Given the description of an element on the screen output the (x, y) to click on. 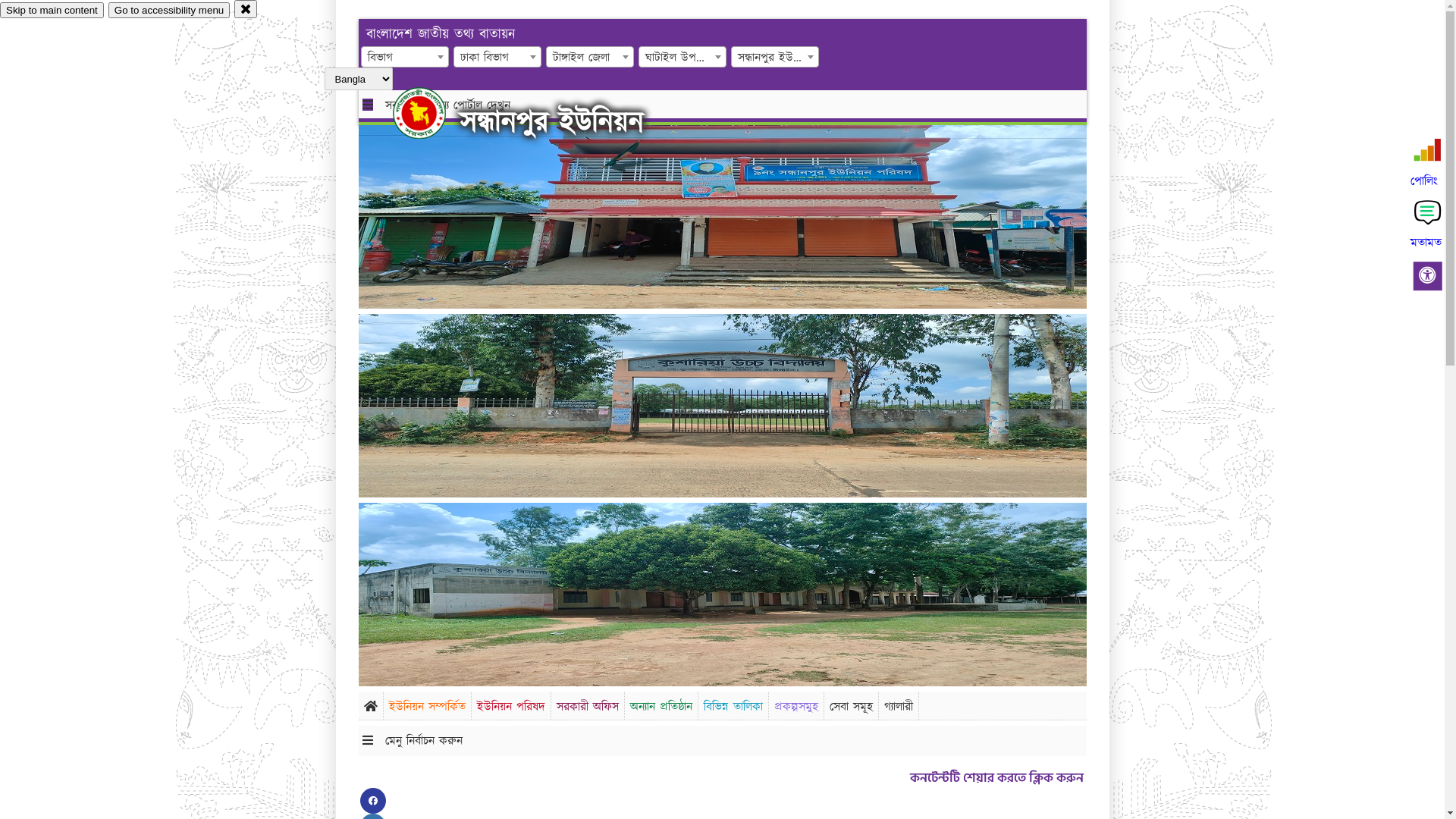
Skip to main content Element type: text (51, 10)

                
             Element type: hover (431, 112)
Go to accessibility menu Element type: text (168, 10)
close Element type: hover (245, 9)
